Given the description of an element on the screen output the (x, y) to click on. 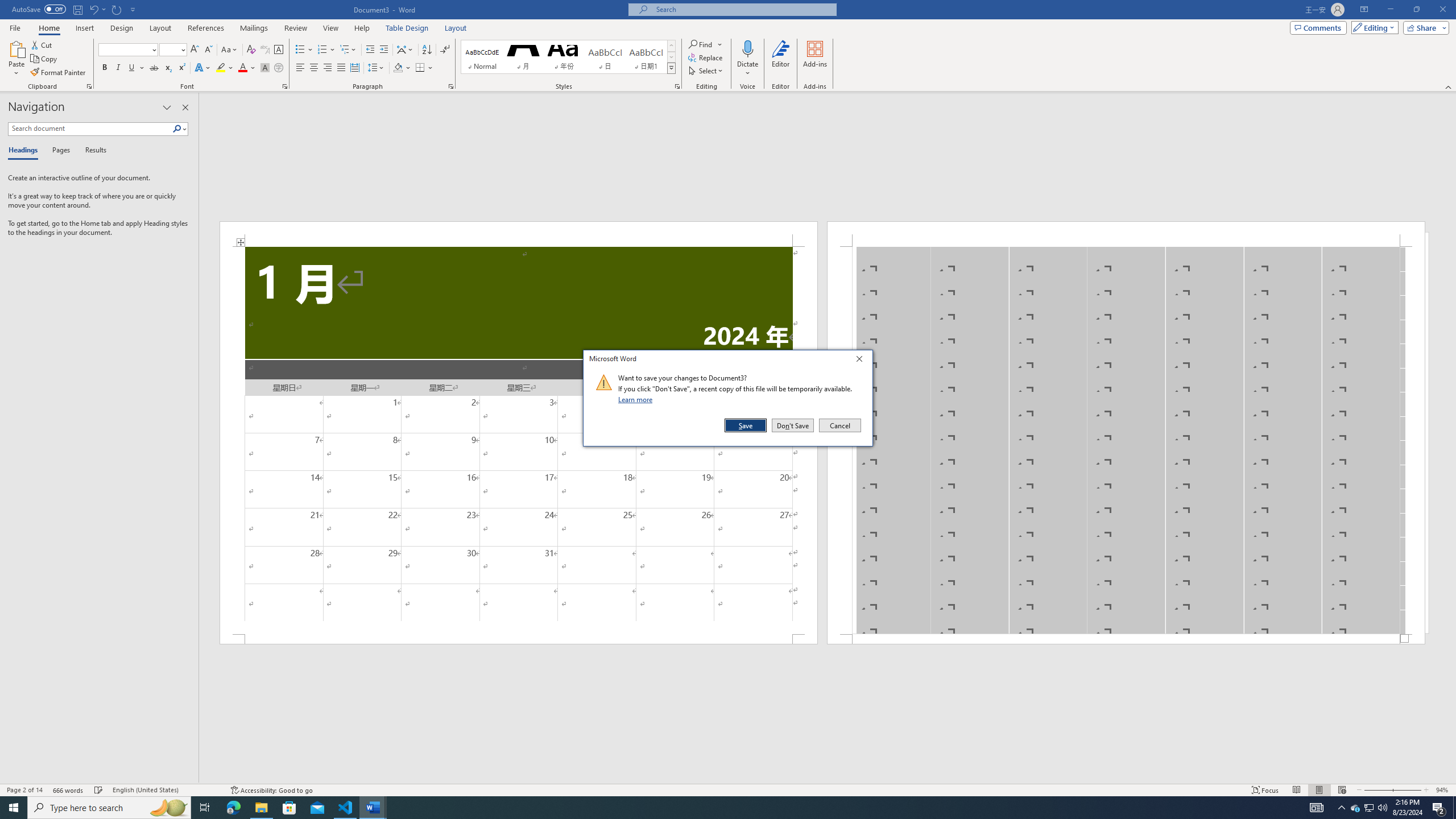
Mode (1372, 27)
Start (13, 807)
Results (91, 150)
Text Highlight Color (224, 67)
Justify (340, 67)
Decrease Indent (370, 49)
Paragraph... (450, 85)
Learn more (636, 399)
AutomationID: QuickStylesGallery (568, 56)
Running applications (717, 807)
